Given the description of an element on the screen output the (x, y) to click on. 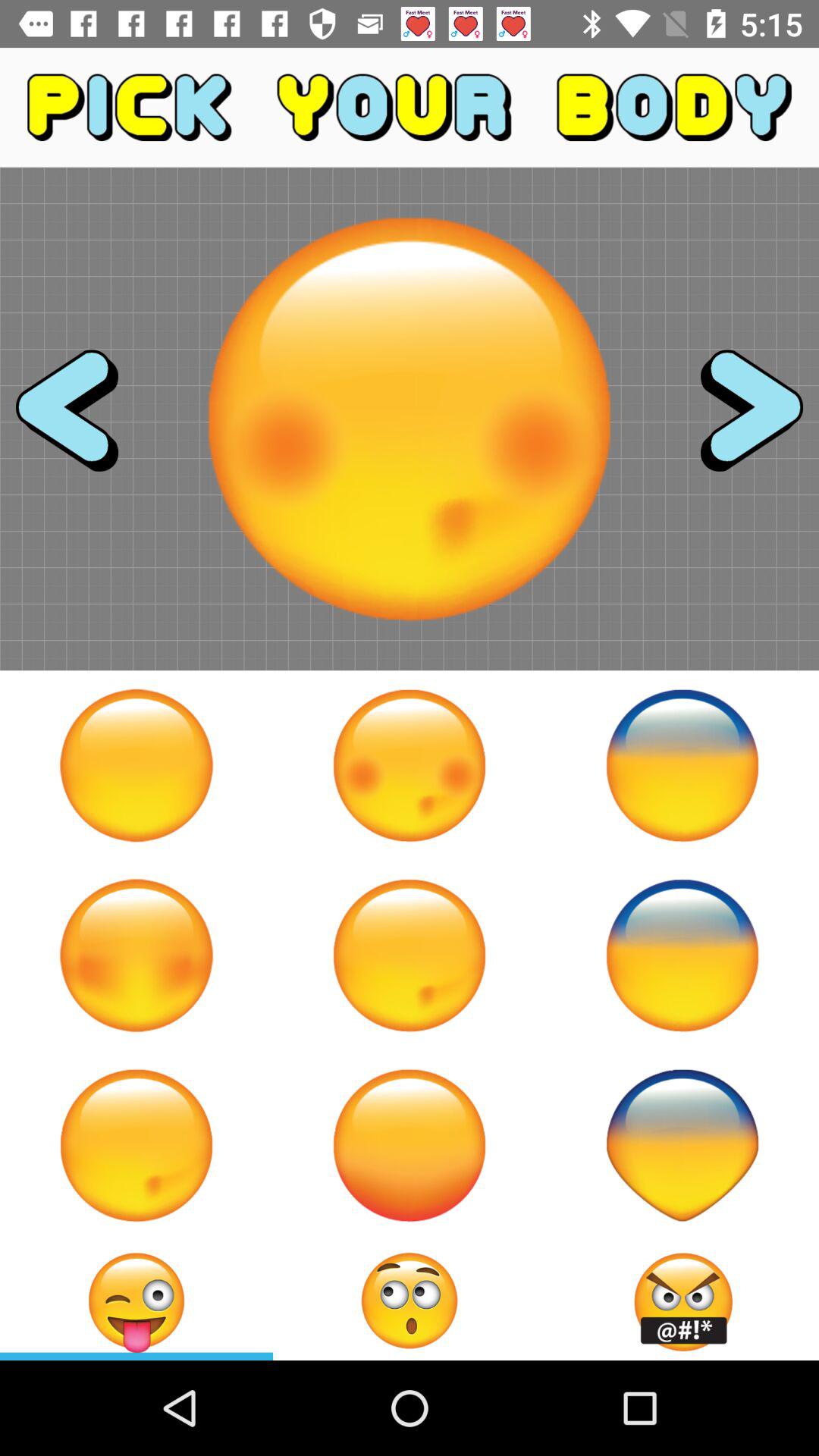
select an option (136, 765)
